Given the description of an element on the screen output the (x, y) to click on. 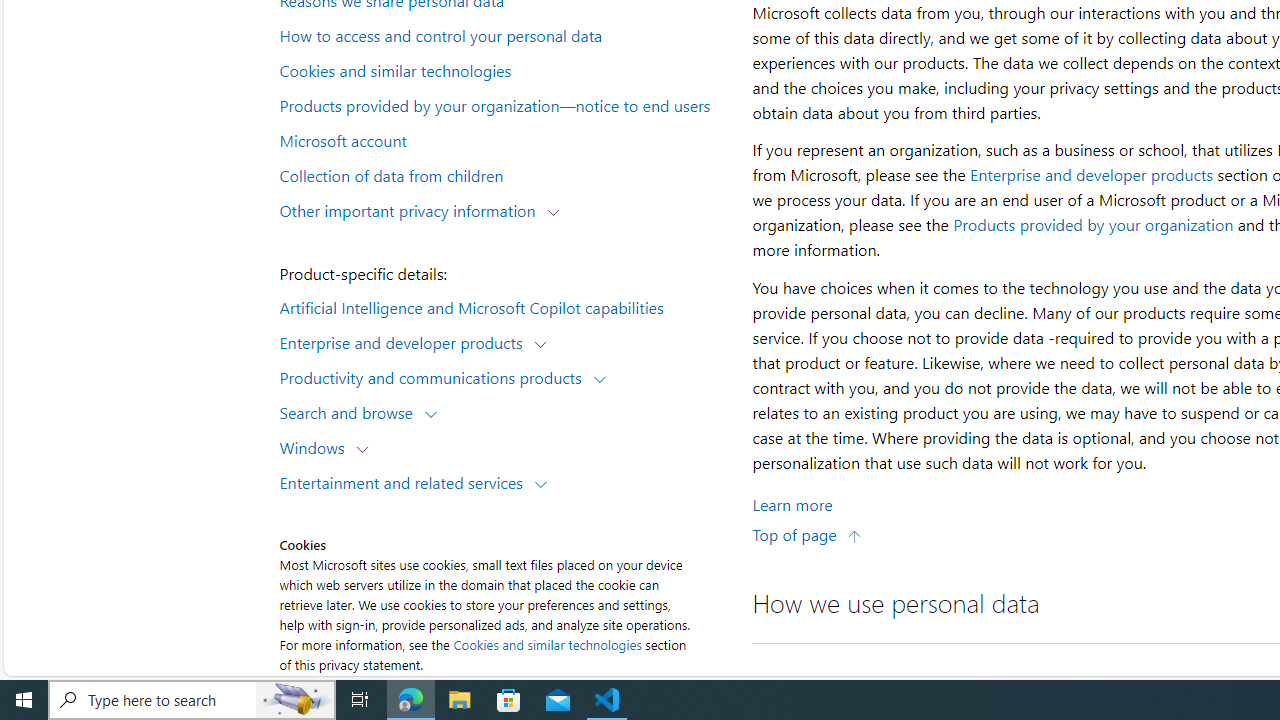
Search and browse (350, 412)
Top of page (807, 534)
